Given the description of an element on the screen output the (x, y) to click on. 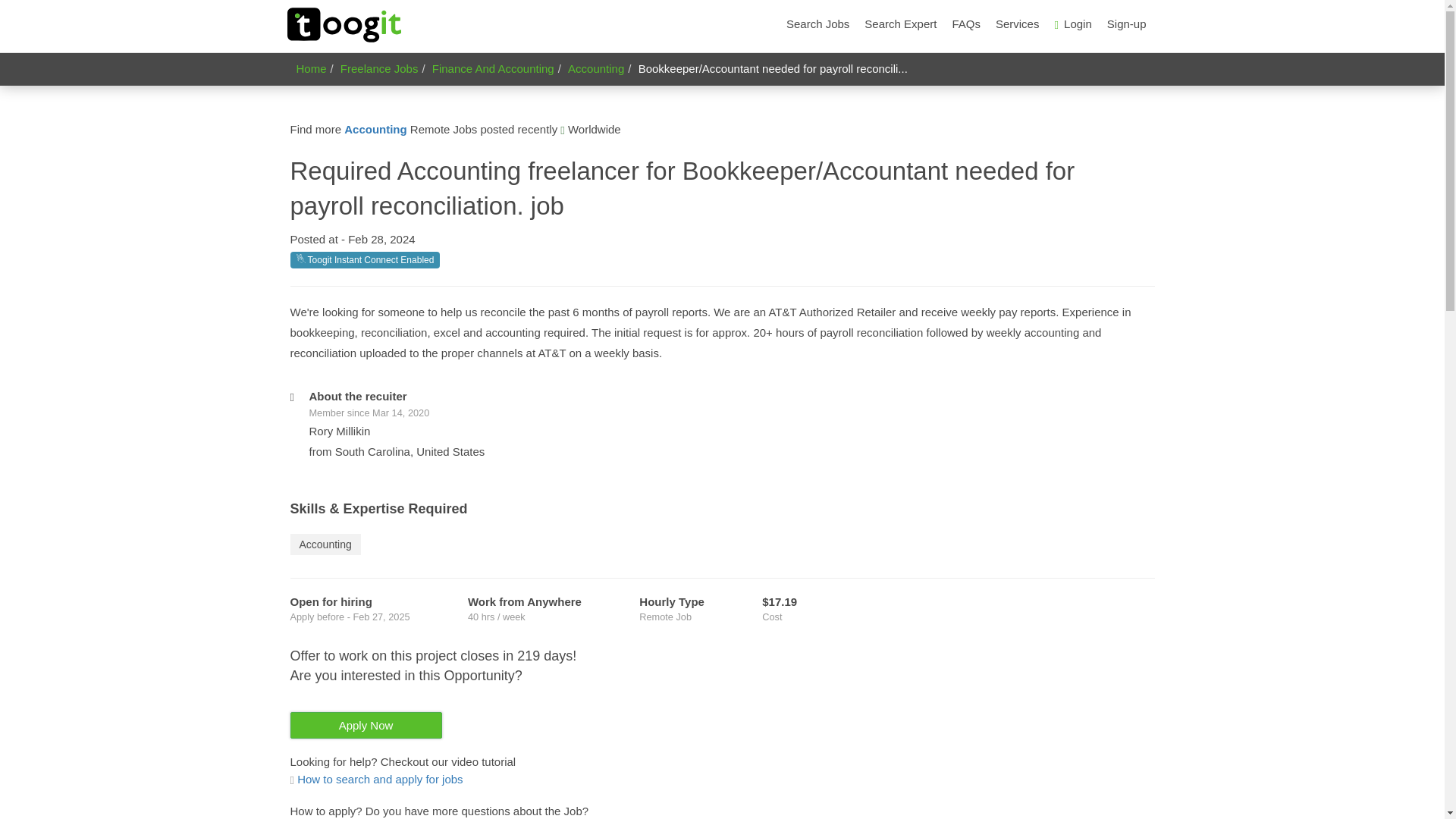
Freelance Jobs (379, 68)
Services (1017, 23)
Accounting (375, 128)
Find More Accounting Remote Jobs (375, 128)
How to search and apply for jobs (376, 779)
Search Expert (900, 23)
Finance And Accounting (493, 68)
Home (310, 68)
Accounting (324, 544)
Apply Now (365, 724)
Sign-up (1126, 23)
Search Jobs (817, 23)
Accounting (595, 68)
How to search and apply for jobs (376, 779)
Login (1072, 23)
